Given the description of an element on the screen output the (x, y) to click on. 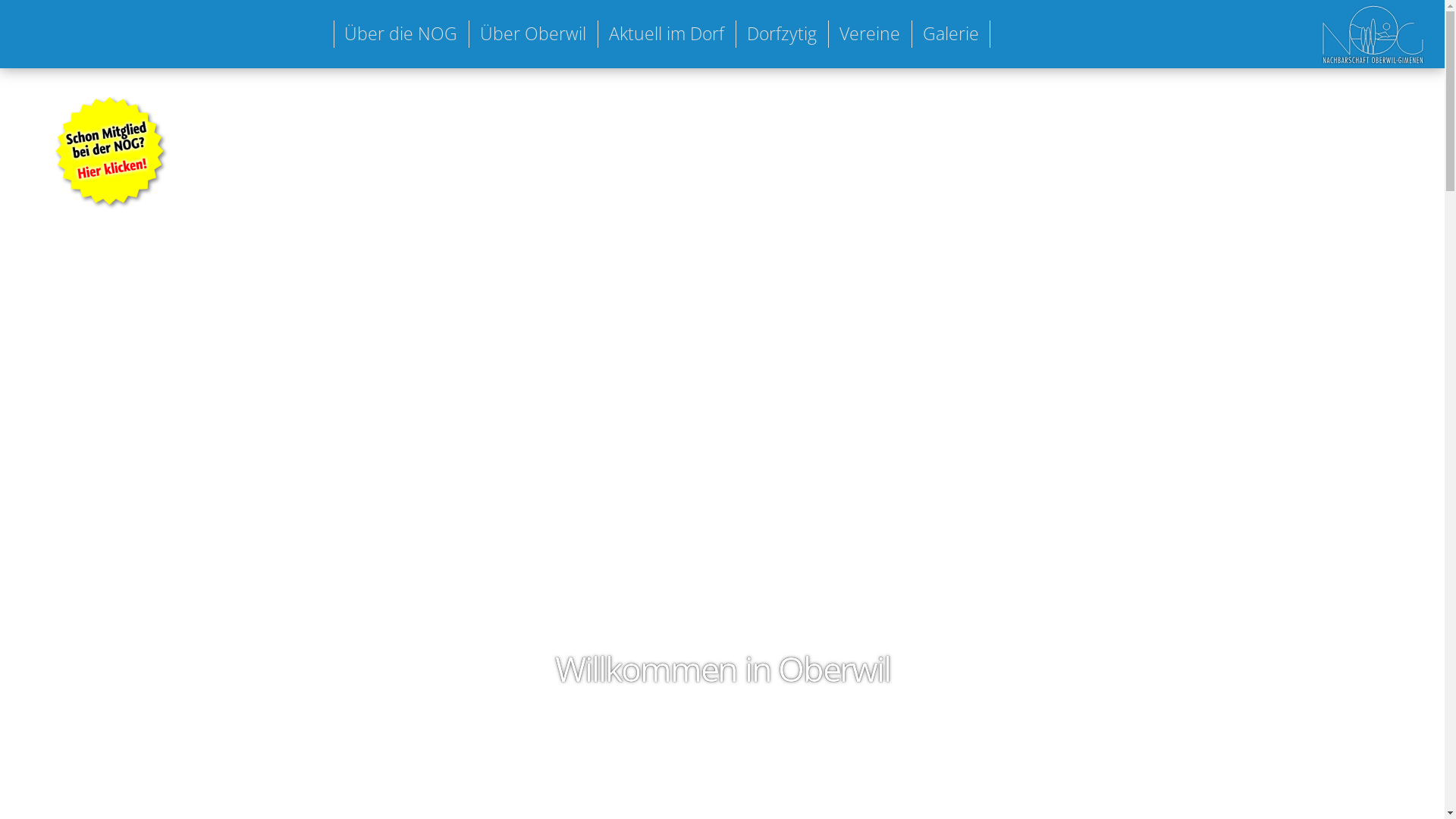
Aktuell im Dorf Element type: text (666, 33)
Vereine Element type: text (869, 33)
Dorfzytig Element type: text (781, 33)
Galerie Element type: text (950, 33)
